Given the description of an element on the screen output the (x, y) to click on. 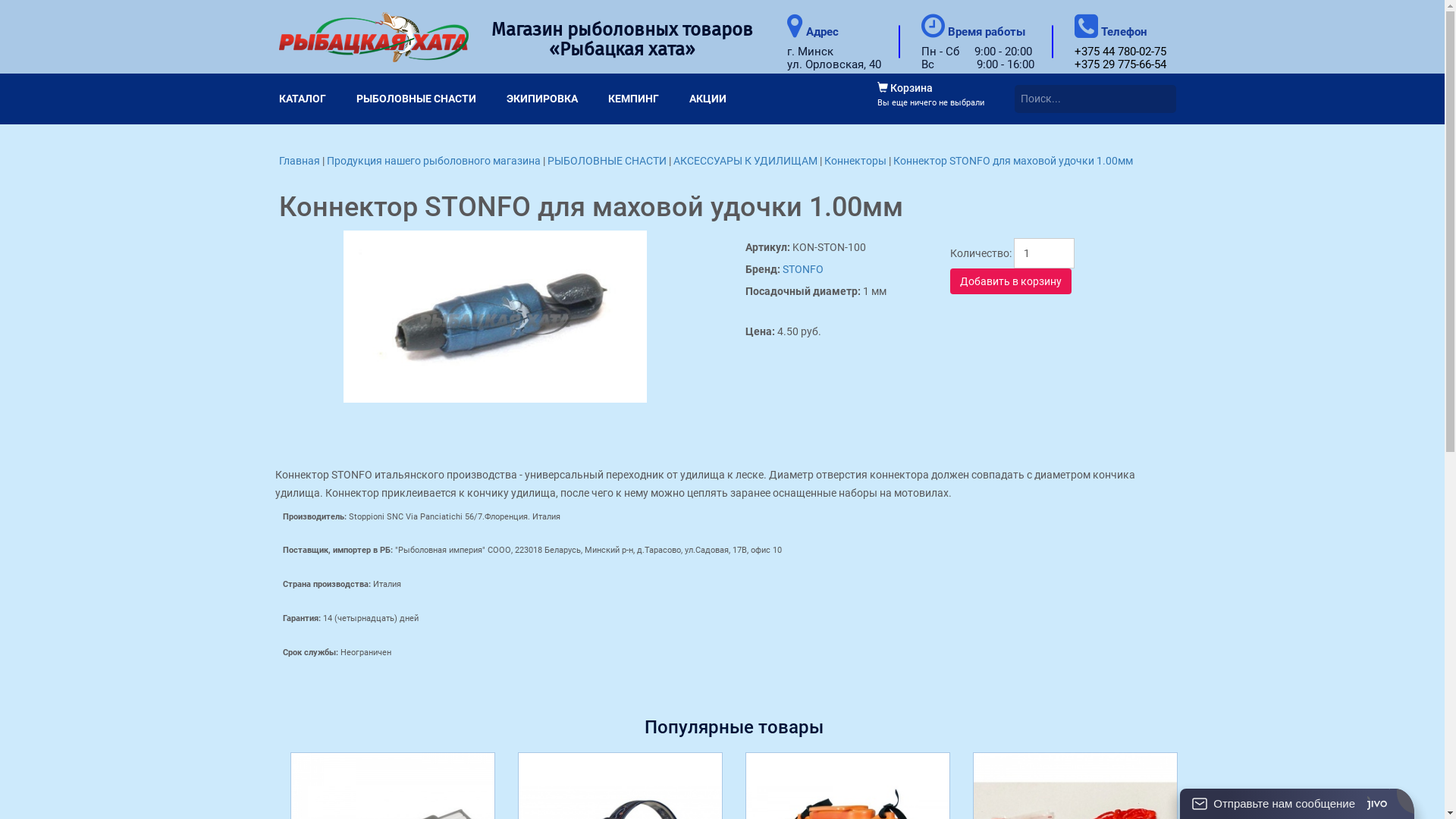
STONFO Element type: text (802, 269)
+375 44 780-02-75 Element type: text (1119, 51)
+375 29 775-66-54 Element type: text (1119, 64)
